Given the description of an element on the screen output the (x, y) to click on. 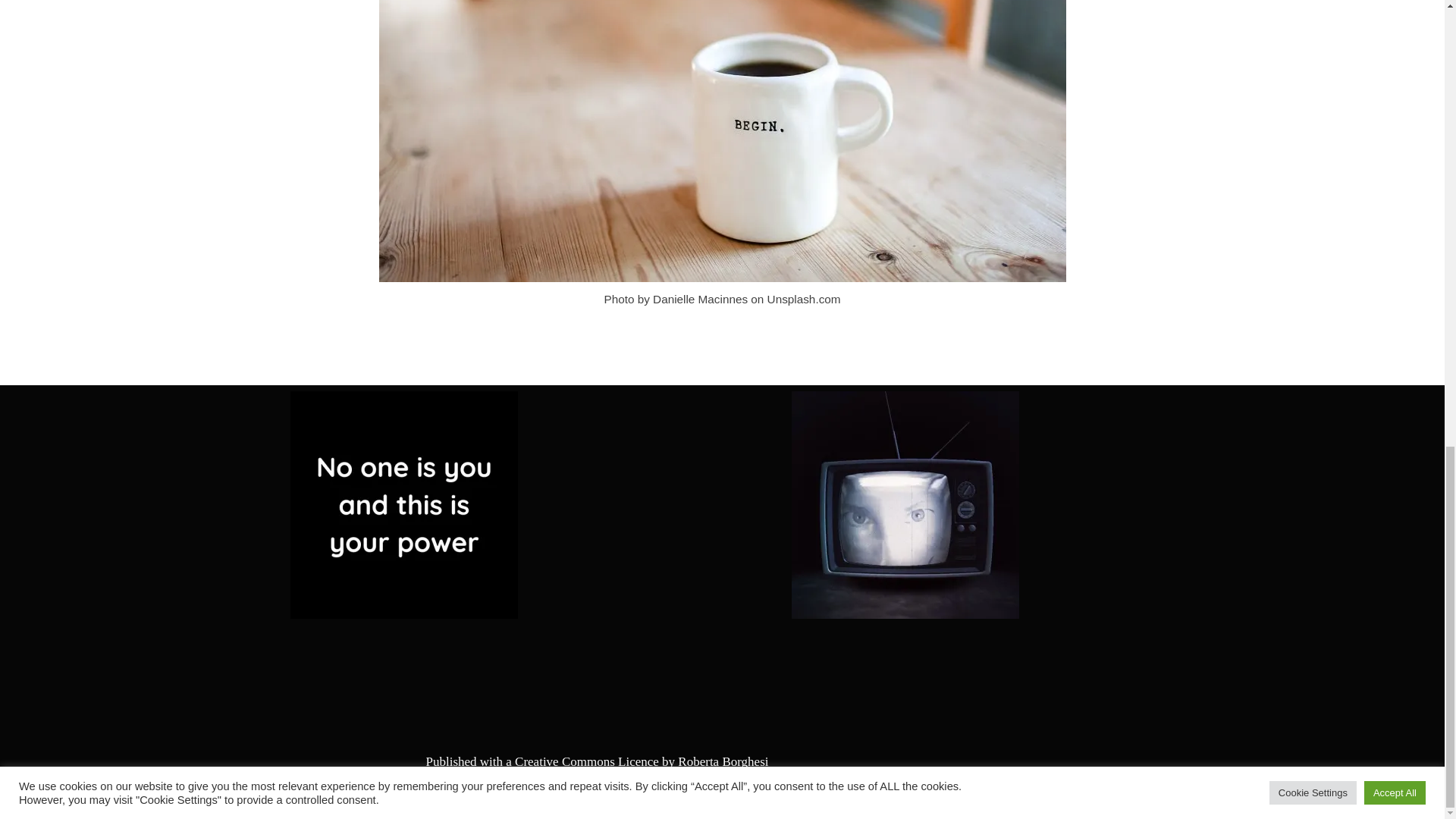
Published with a Creative Commons Licence (541, 761)
WordPress (139, 798)
Neve (25, 798)
